Given the description of an element on the screen output the (x, y) to click on. 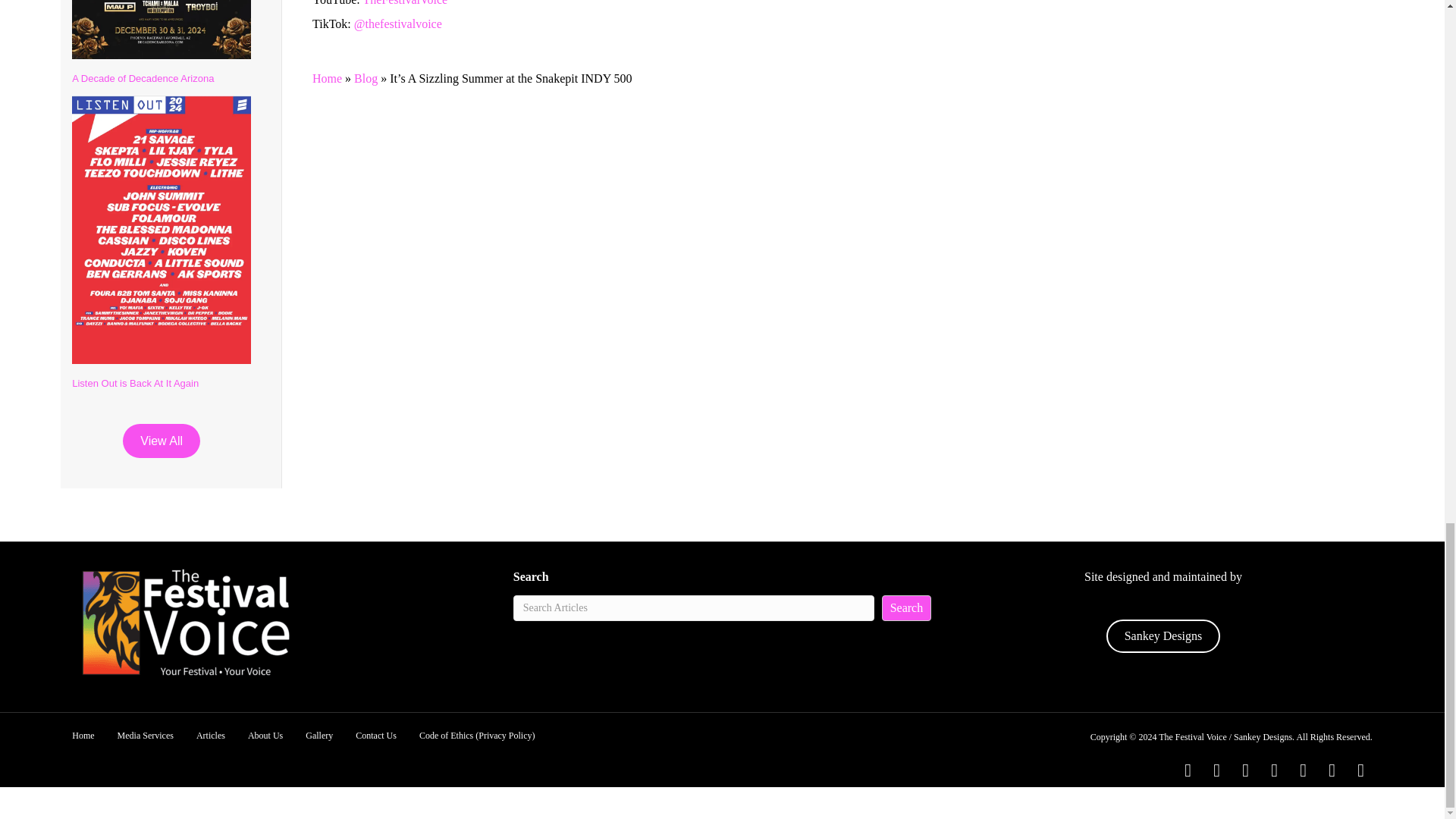
View All (161, 440)
A Decade of Decadence Arizona (142, 78)
Listen Out is Back At It Again (134, 383)
